Given the description of an element on the screen output the (x, y) to click on. 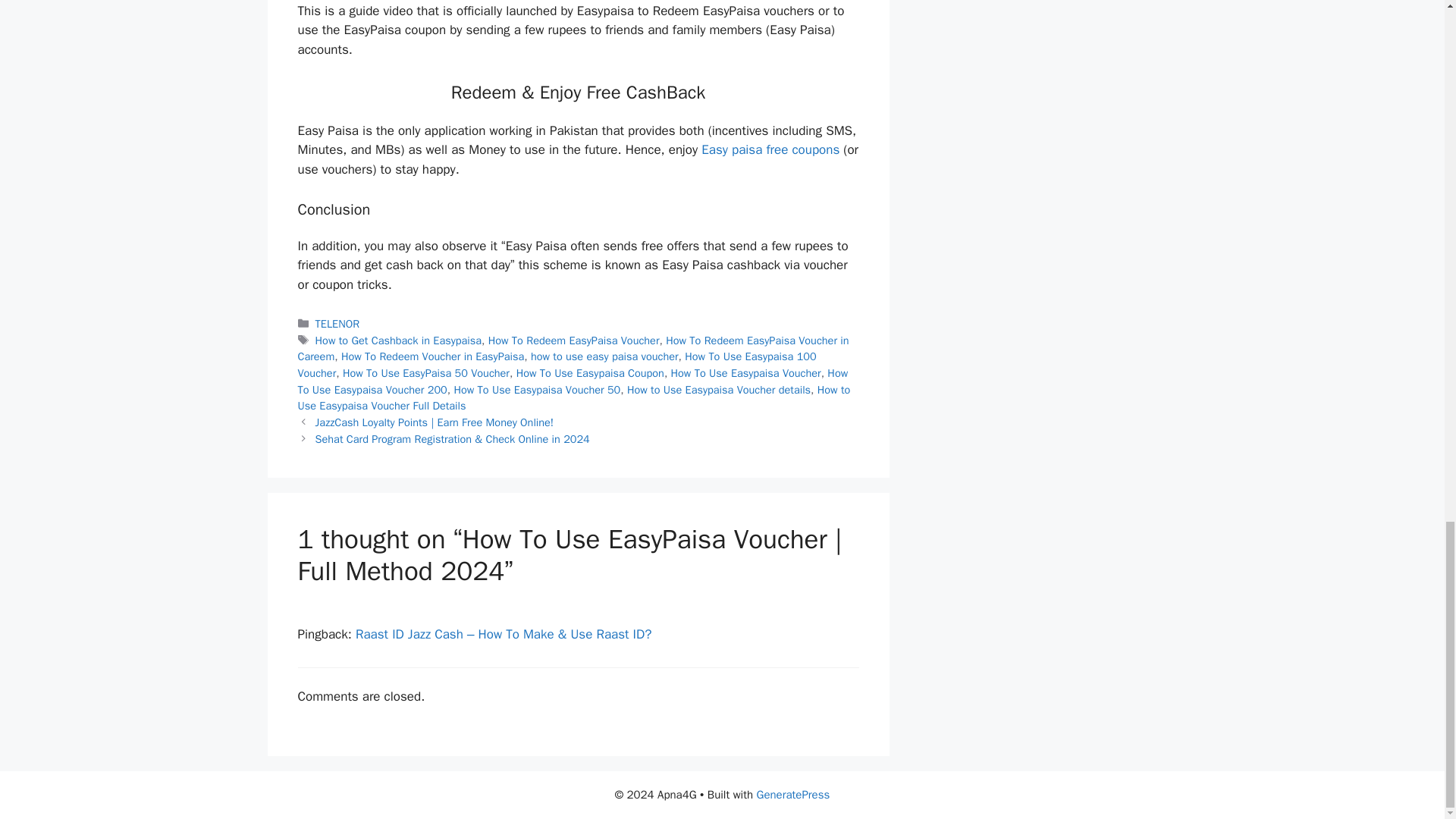
How To Use Easypaisa Coupon (589, 373)
How To Use EasyPaisa 50 Voucher (425, 373)
How To Use Easypaisa Voucher (746, 373)
How to Use Easypaisa Voucher Full Details (573, 398)
Easy paisa free coupons (770, 149)
how to use easy paisa voucher (604, 356)
How To Use Easypaisa Voucher 50 (536, 389)
How To Use Easypaisa 100 Voucher (556, 364)
How To Use Easypaisa Voucher 200 (572, 381)
How To Redeem EasyPaisa Voucher (573, 340)
